Given the description of an element on the screen output the (x, y) to click on. 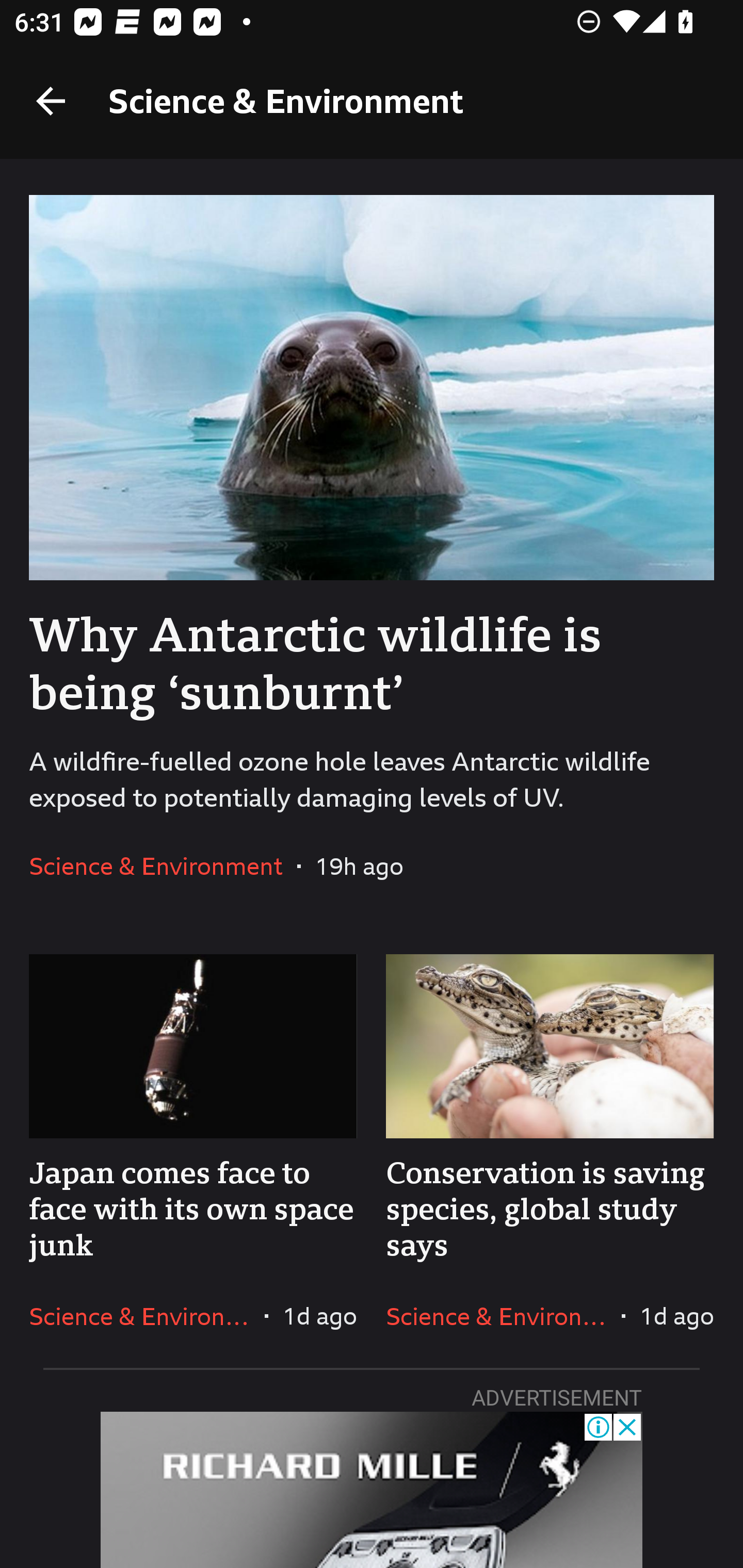
Back (50, 101)
